Given the description of an element on the screen output the (x, y) to click on. 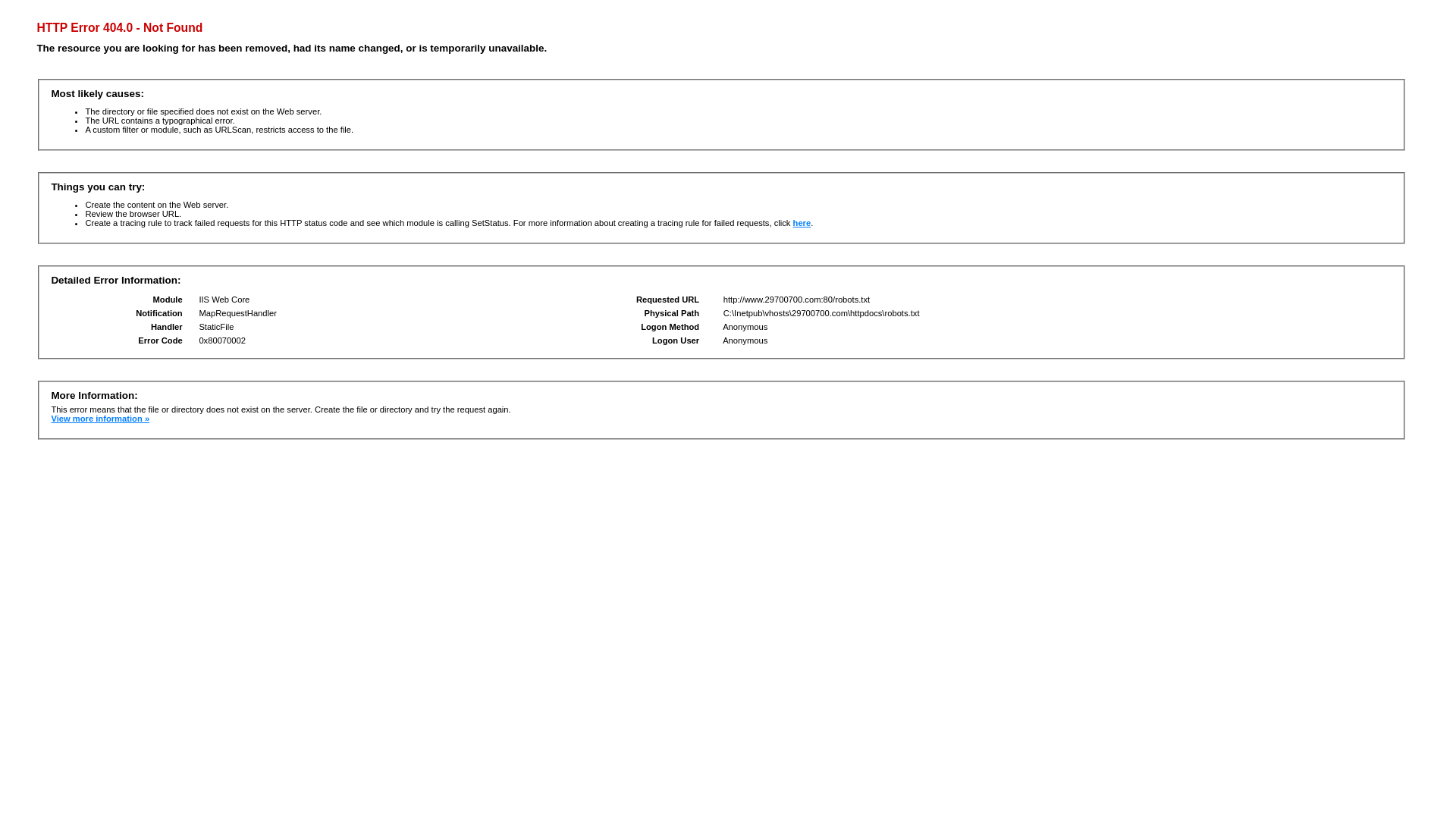
here Element type: text (802, 222)
